Given the description of an element on the screen output the (x, y) to click on. 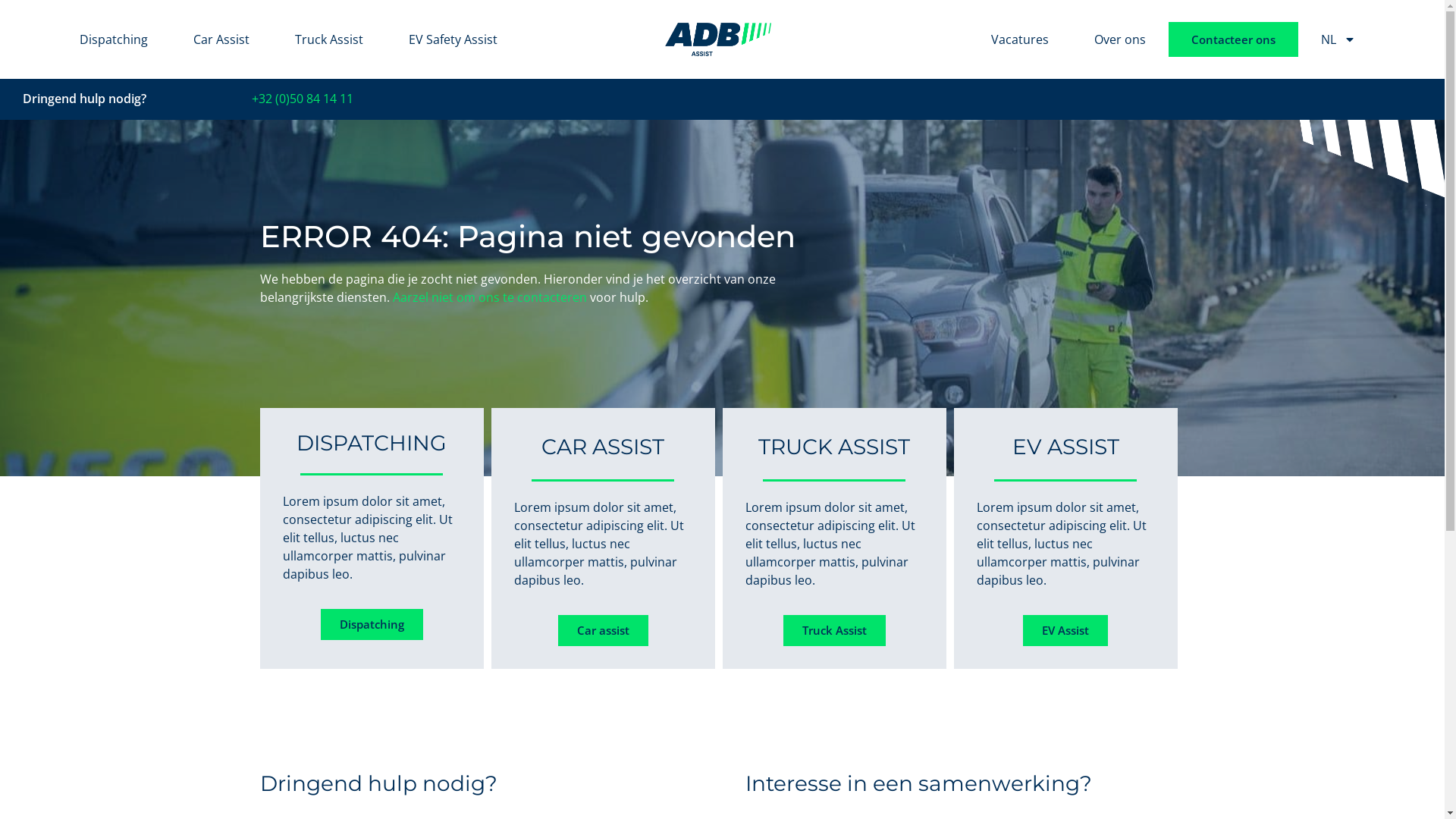
Car assist Element type: text (603, 630)
Contacteer ons Element type: text (1233, 38)
CAR ASSIST Element type: text (602, 446)
+32 (0)50 84 14 11 Element type: text (302, 98)
TRUCK ASSIST Element type: text (834, 446)
NL Element type: text (1338, 38)
Truck Assist Element type: text (328, 38)
EV Assist Element type: text (1064, 630)
EV ASSIST Element type: text (1064, 446)
DISPATCHING Element type: text (371, 442)
Truck Assist Element type: text (833, 630)
Over ons Element type: text (1119, 38)
Dispatching Element type: text (371, 624)
Dispatching Element type: text (113, 38)
Car Assist Element type: text (221, 38)
EV Safety Assist Element type: text (452, 38)
Aarzel niet om ons te contacteren Element type: text (489, 296)
Vacatures Element type: text (1019, 38)
